Given the description of an element on the screen output the (x, y) to click on. 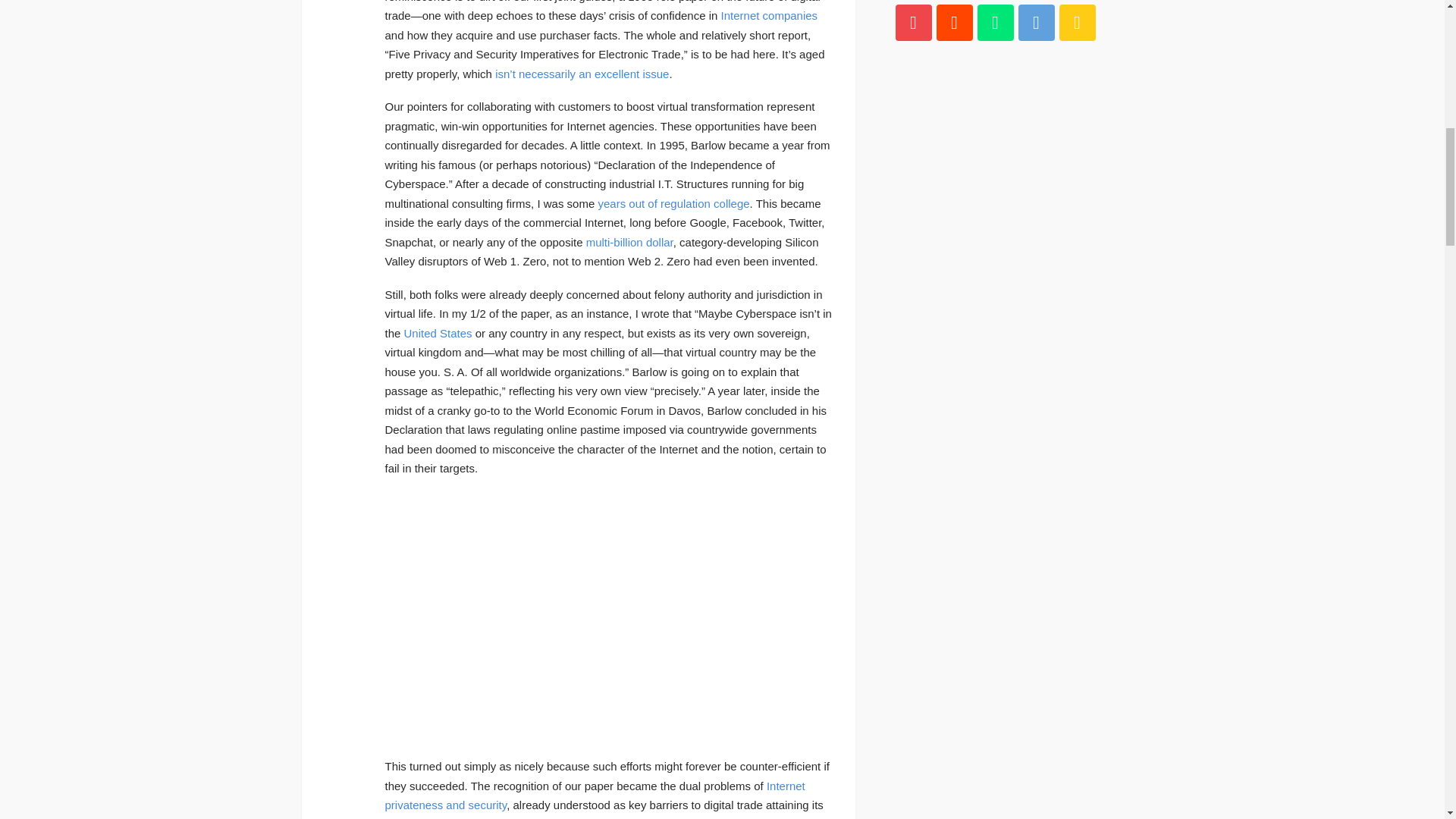
John Perry Barlow On Facebook's Latest Privacy Woes 1 (608, 617)
